Given the description of an element on the screen output the (x, y) to click on. 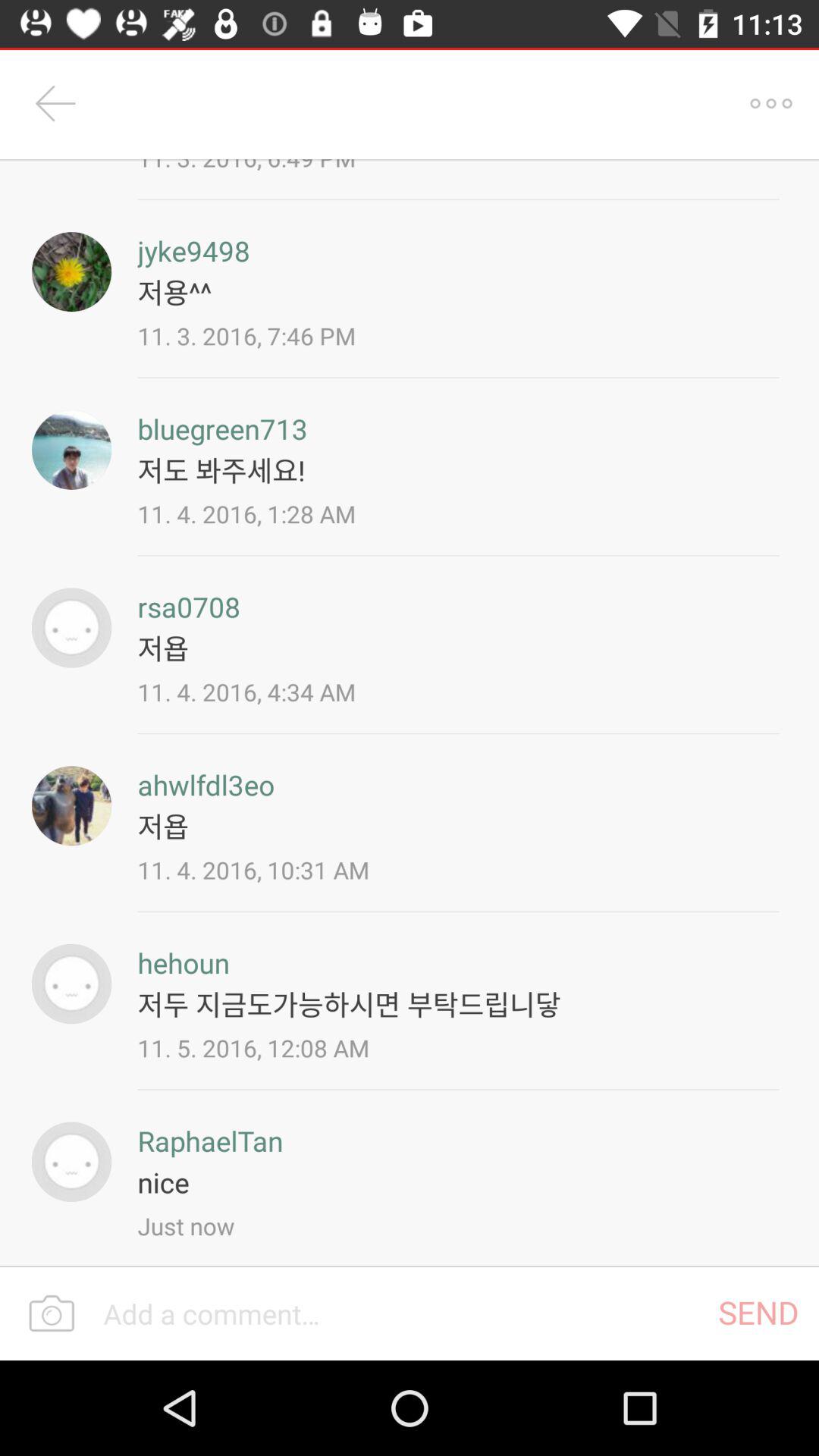
view profile (71, 1161)
